Given the description of an element on the screen output the (x, y) to click on. 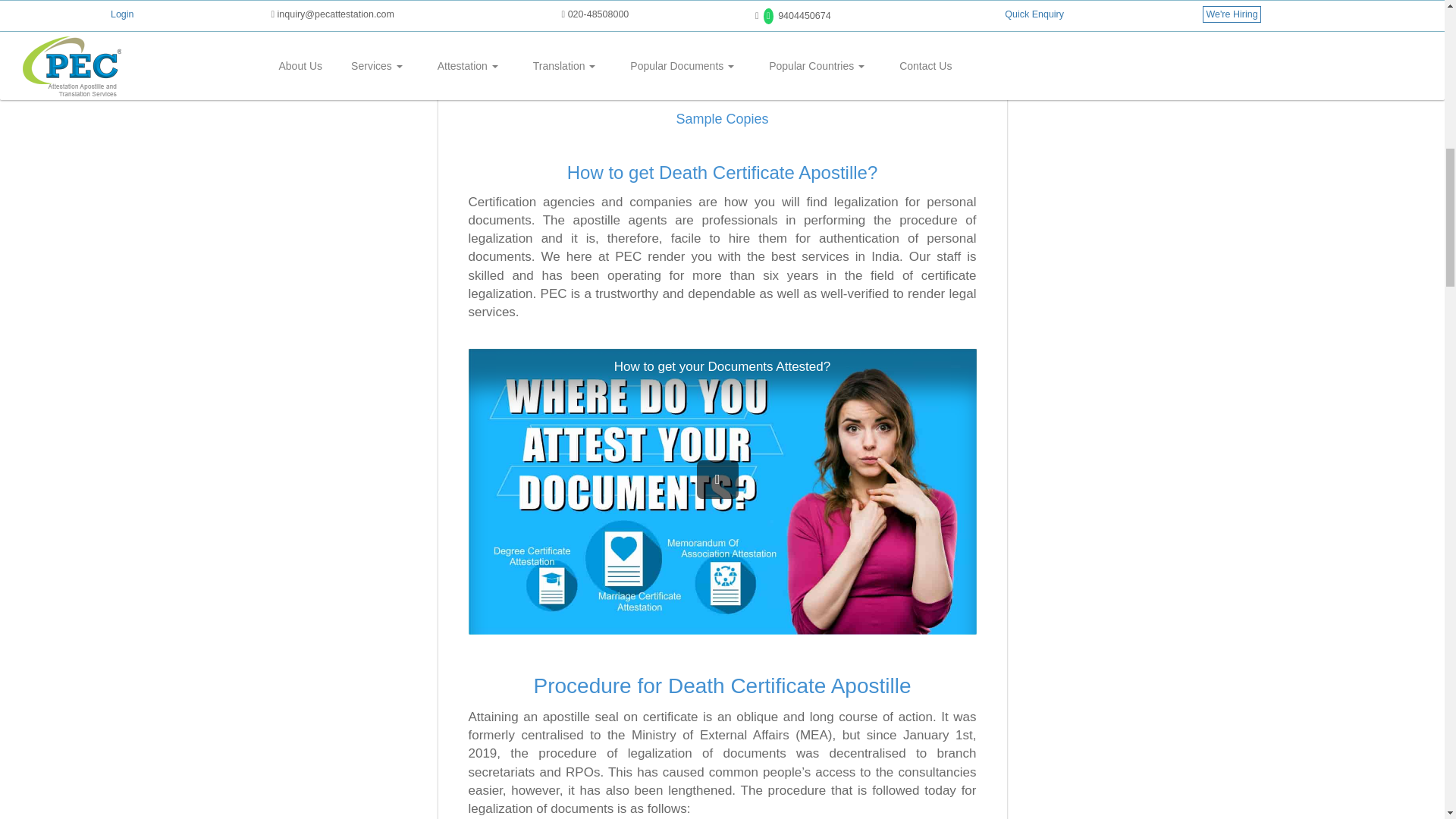
Educational Degree Certificate Apostille (707, 44)
Commercial Document Power Of Attorney Apostille (867, 44)
Personal Document Birth Certificate Apostille (547, 44)
